Given the description of an element on the screen output the (x, y) to click on. 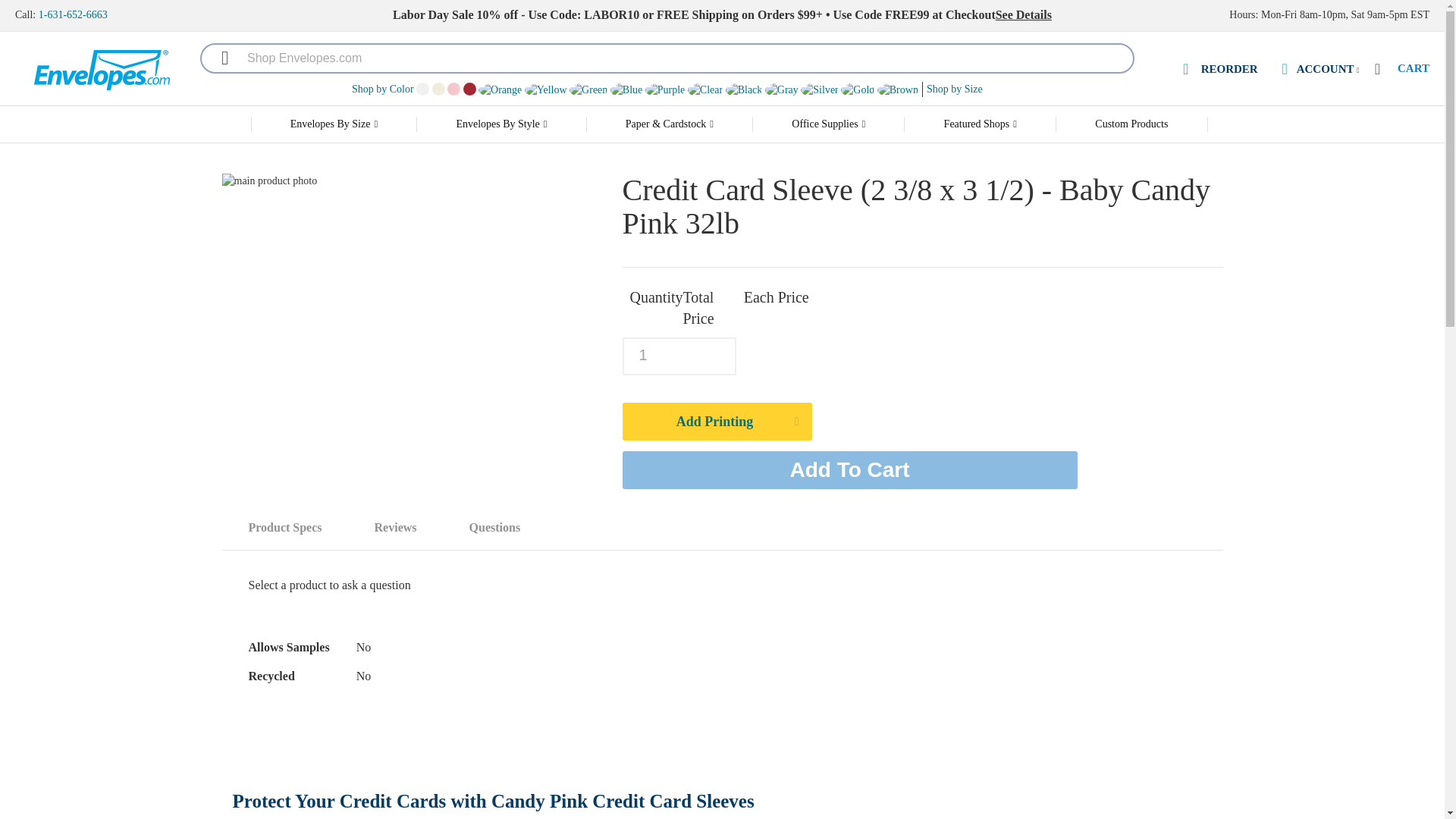
Quantity (678, 356)
Envelopes By Size (333, 124)
Shop by Color (382, 89)
1 (678, 356)
1-631-652-6663 (73, 14)
Search (217, 57)
REORDER (1217, 70)
Shop by Size (954, 89)
Add to Cart (849, 469)
Reorder (1217, 70)
